Given the description of an element on the screen output the (x, y) to click on. 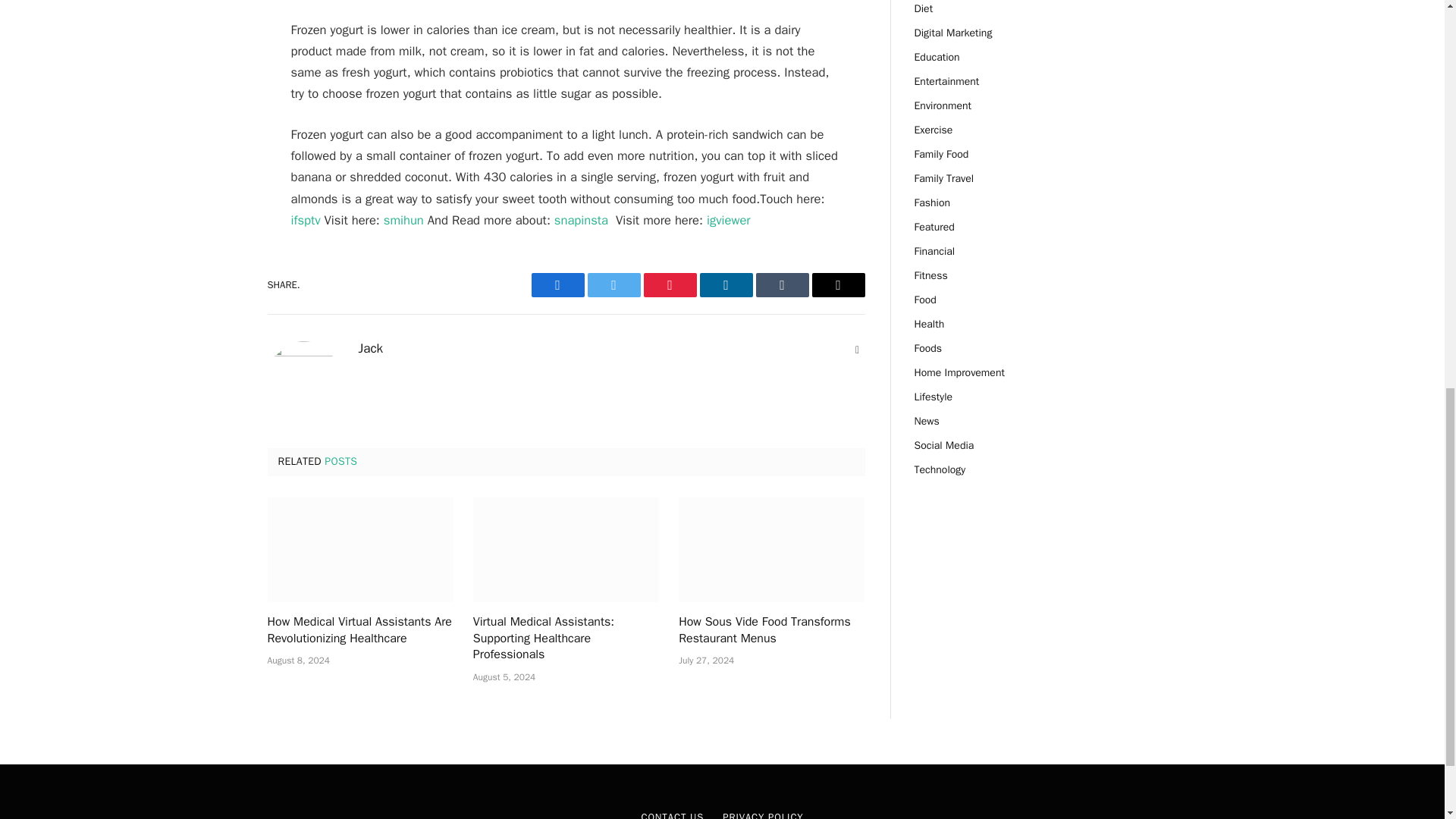
igviewer (728, 220)
snapinsta (581, 220)
smihun (403, 220)
Facebook (557, 284)
ifsptv (305, 220)
